Given the description of an element on the screen output the (x, y) to click on. 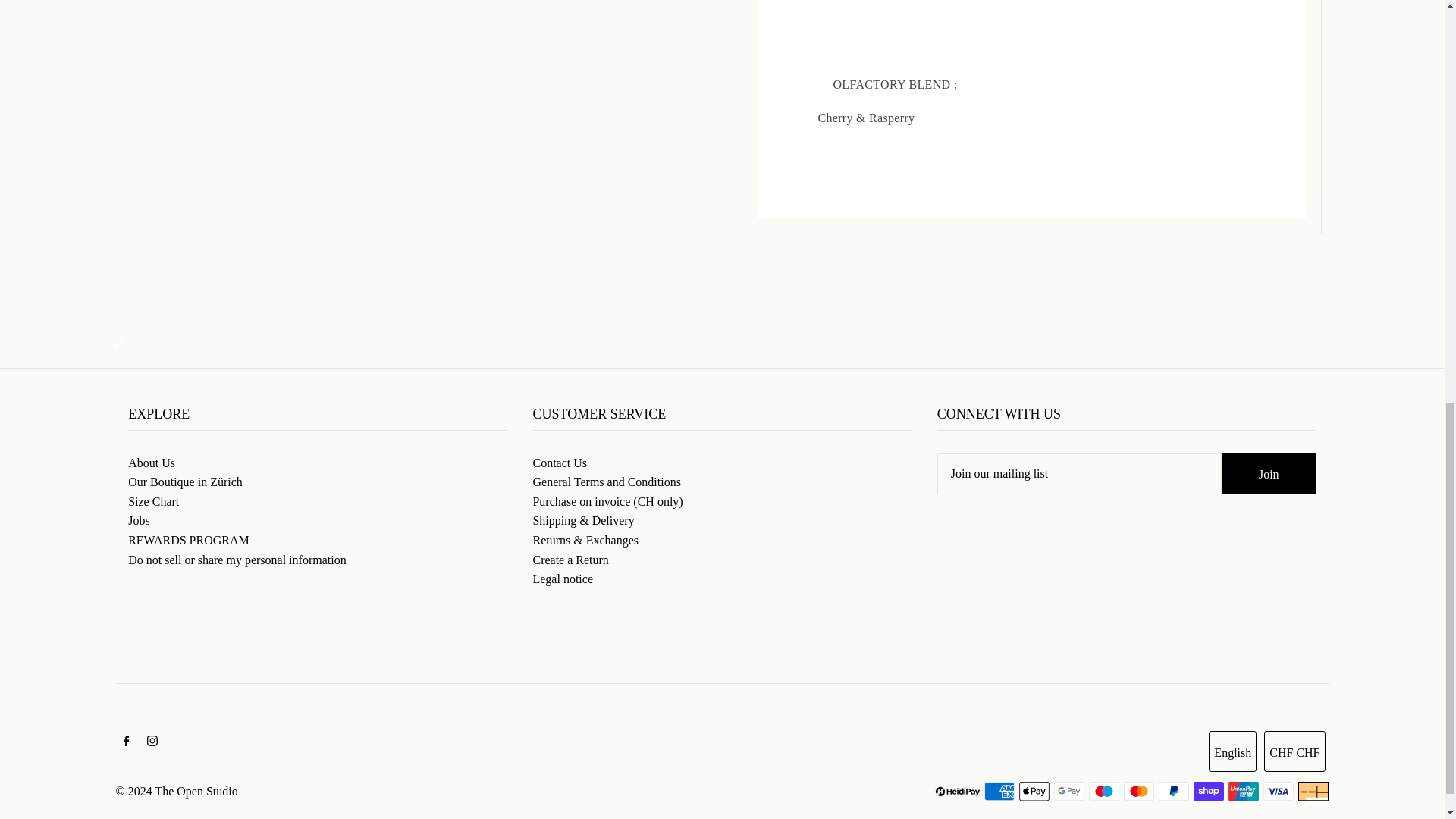
American Express (999, 791)
Google Pay (1069, 791)
Mastercard (1139, 791)
Apple Pay (1034, 791)
Maestro (1104, 791)
Join (1268, 473)
